Given the description of an element on the screen output the (x, y) to click on. 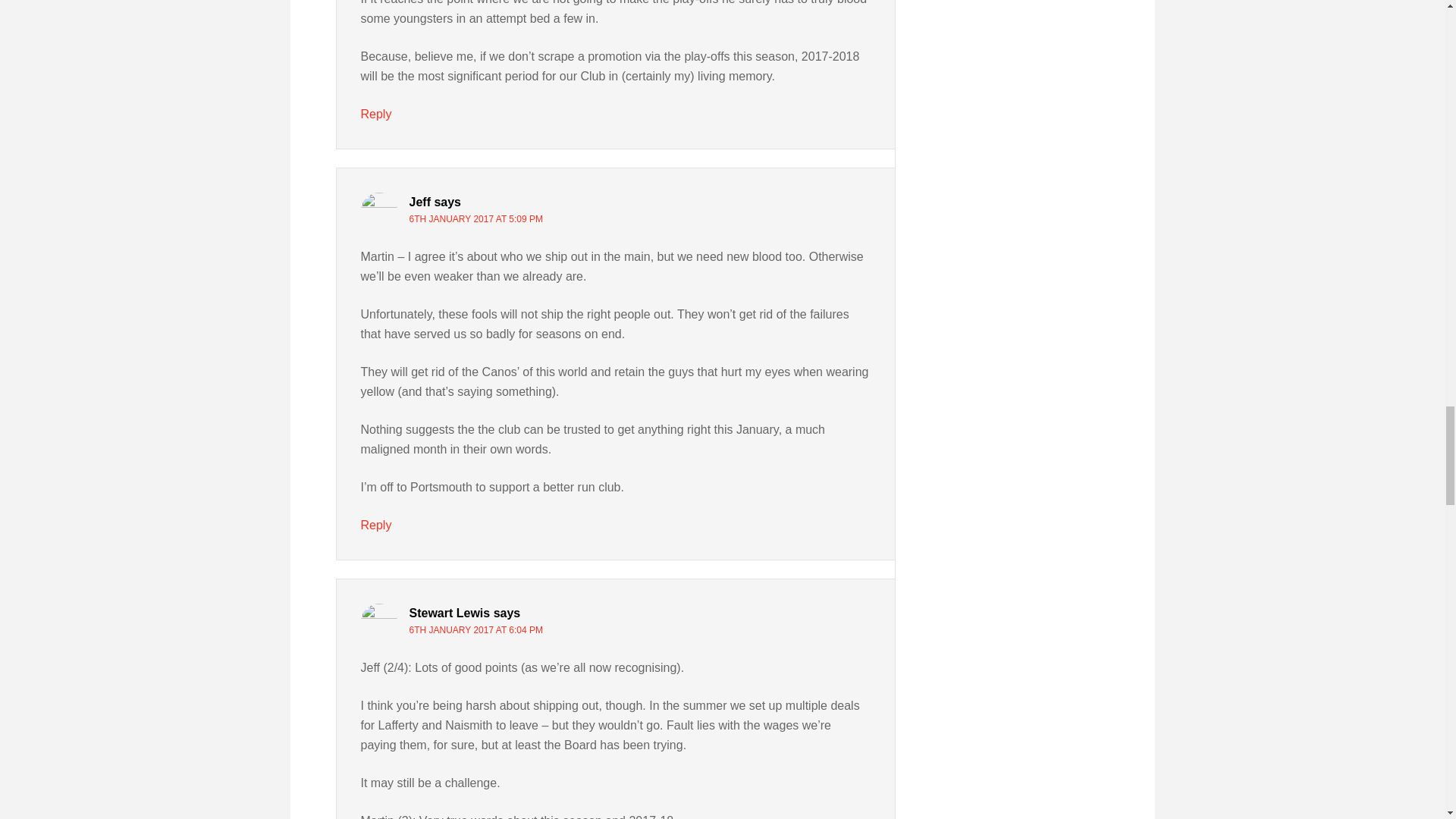
Reply (376, 524)
Reply (376, 113)
6TH JANUARY 2017 AT 5:09 PM (476, 218)
